Given the description of an element on the screen output the (x, y) to click on. 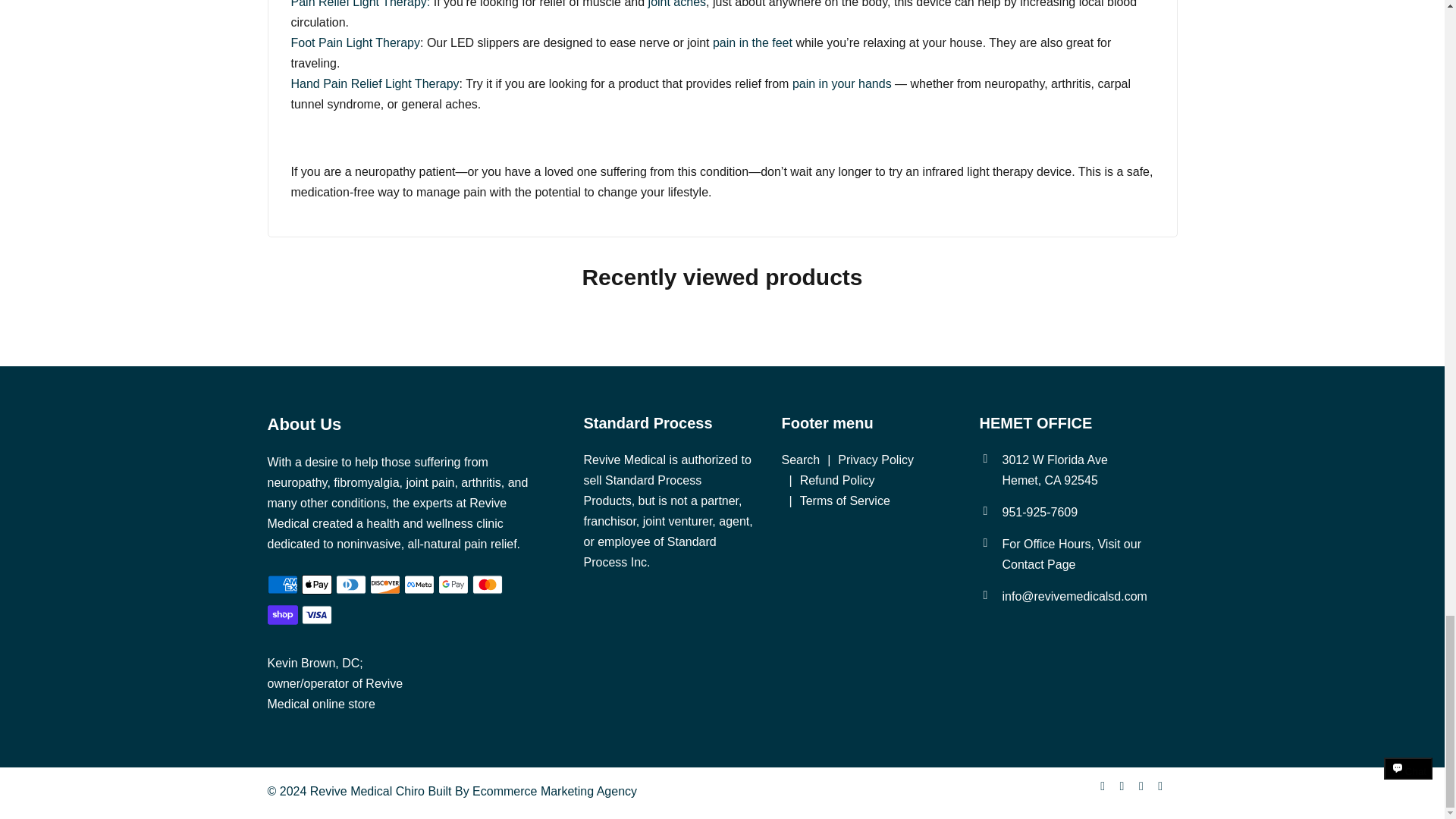
Mastercard (486, 584)
Diners Club (349, 584)
Meta Pay (418, 584)
American Express (281, 584)
Shop Pay (281, 614)
Apple Pay (316, 584)
Google Pay (453, 584)
Visa (316, 614)
Discover (384, 584)
